Given the description of an element on the screen output the (x, y) to click on. 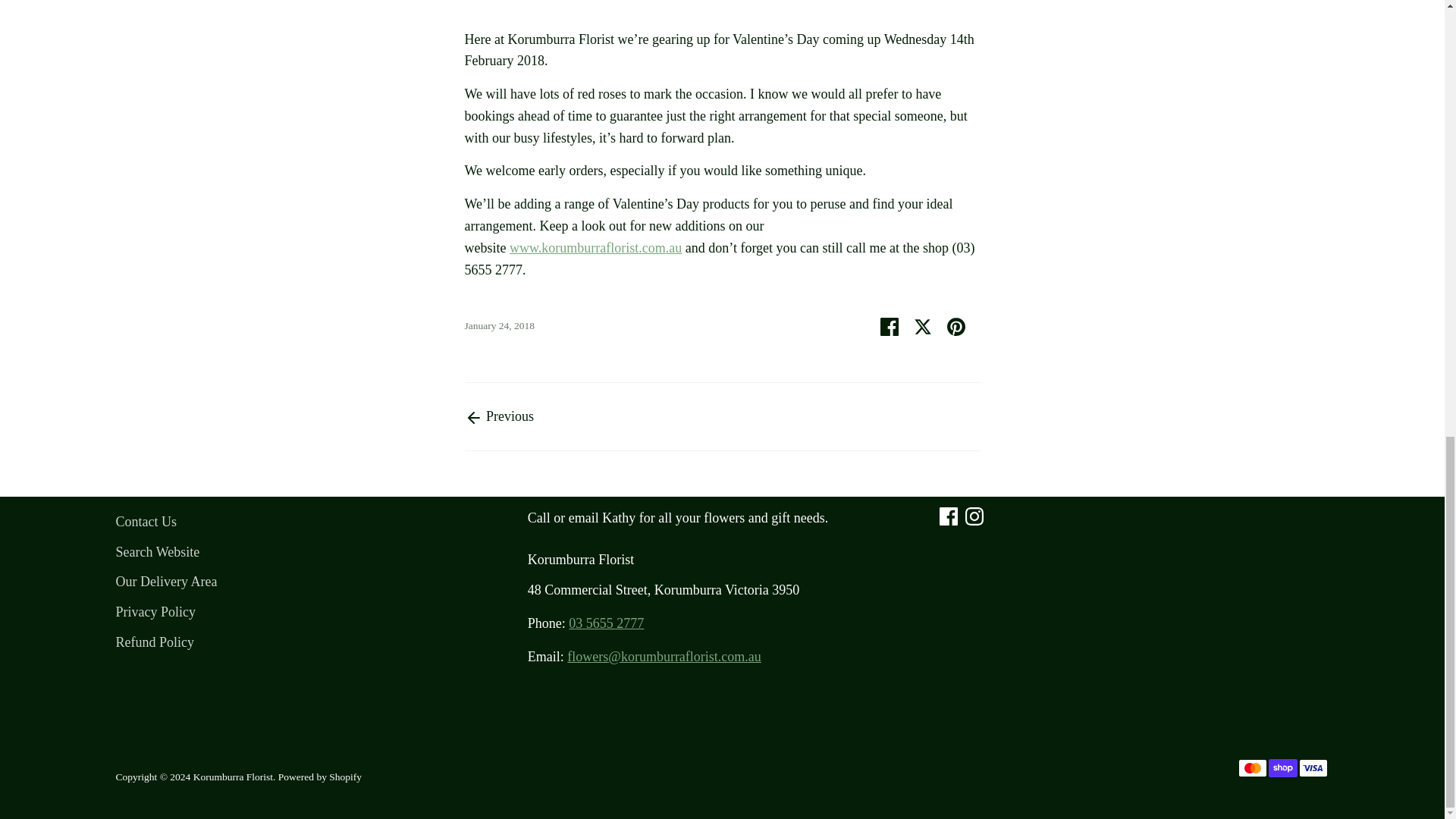
Mastercard (1251, 768)
Shop Pay (1282, 768)
Visa (1312, 768)
